Given the description of an element on the screen output the (x, y) to click on. 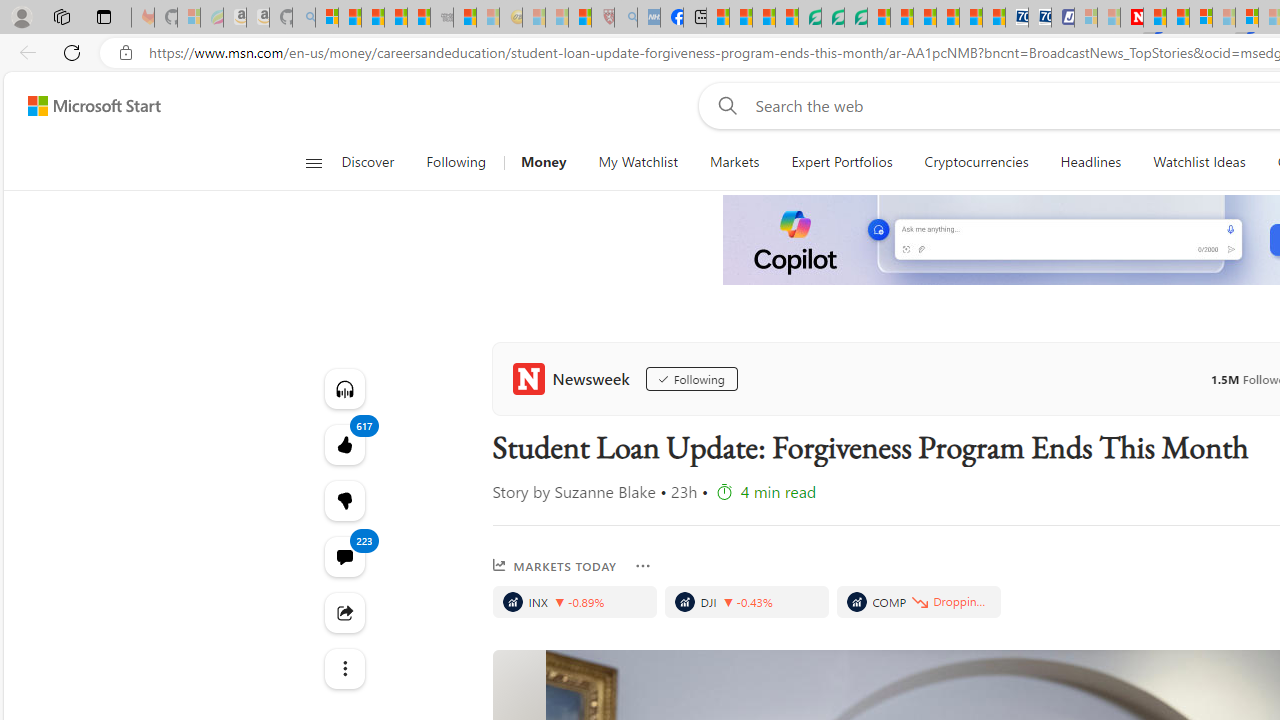
Expert Portfolios (841, 162)
Robert H. Shmerling, MD - Harvard Health - Sleeping (602, 17)
Headlines (1090, 162)
Skip to content (86, 105)
617 (343, 500)
Markets (733, 162)
Microsoft account | Privacy - Sleeping (1085, 17)
LendingTree - Compare Lenders (809, 17)
Microsoft-Report a Concern to Bing - Sleeping (188, 17)
